Given the description of an element on the screen output the (x, y) to click on. 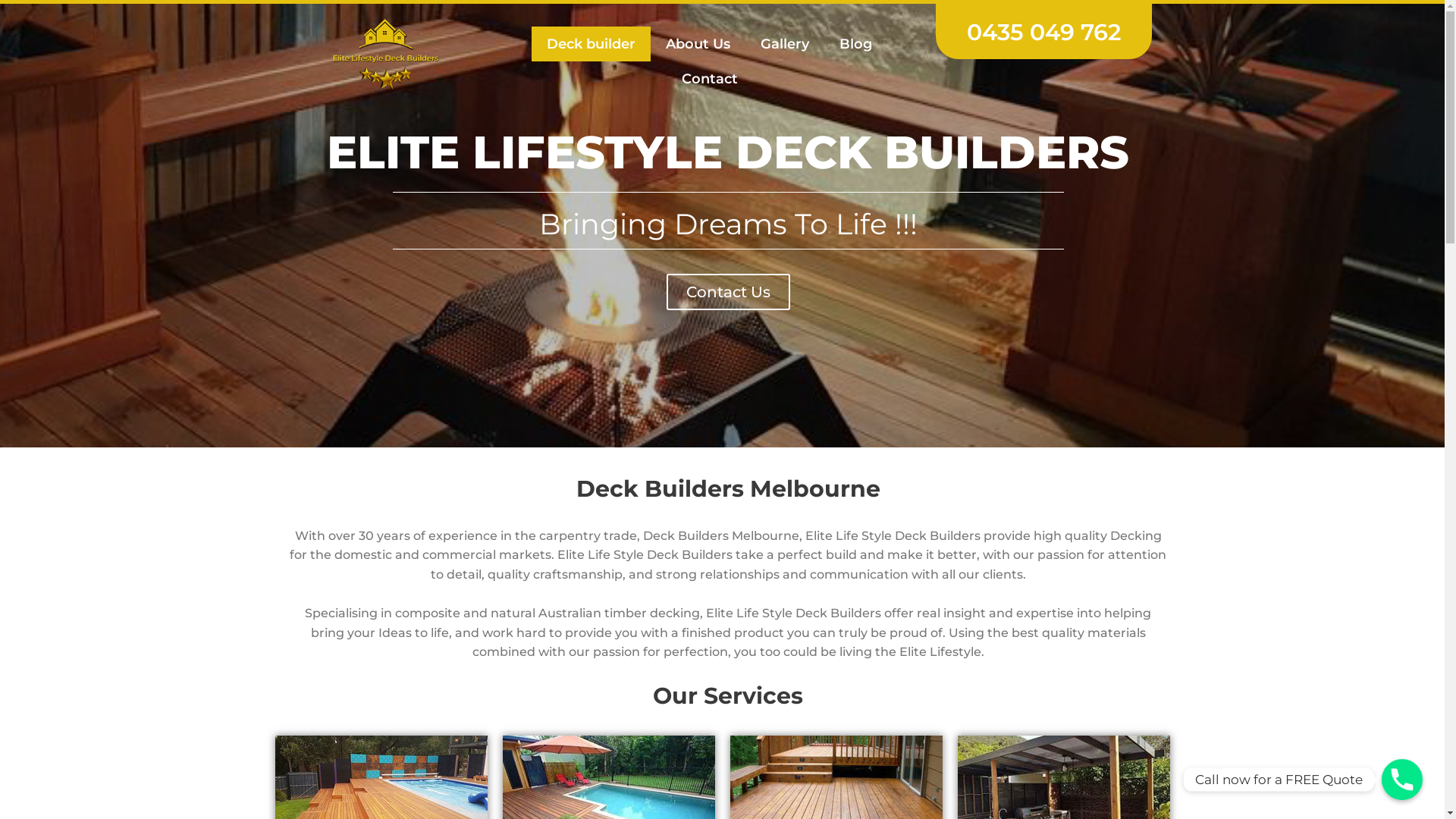
Contact Element type: text (709, 78)
Gallery Element type: text (784, 43)
Deck builder Element type: text (590, 43)
Blog Element type: text (855, 43)
Call now for a FREE Quote Element type: text (1401, 779)
About Us Element type: text (697, 43)
0435 049 762 Element type: text (1043, 32)
Contact Us Element type: text (727, 291)
